Given the description of an element on the screen output the (x, y) to click on. 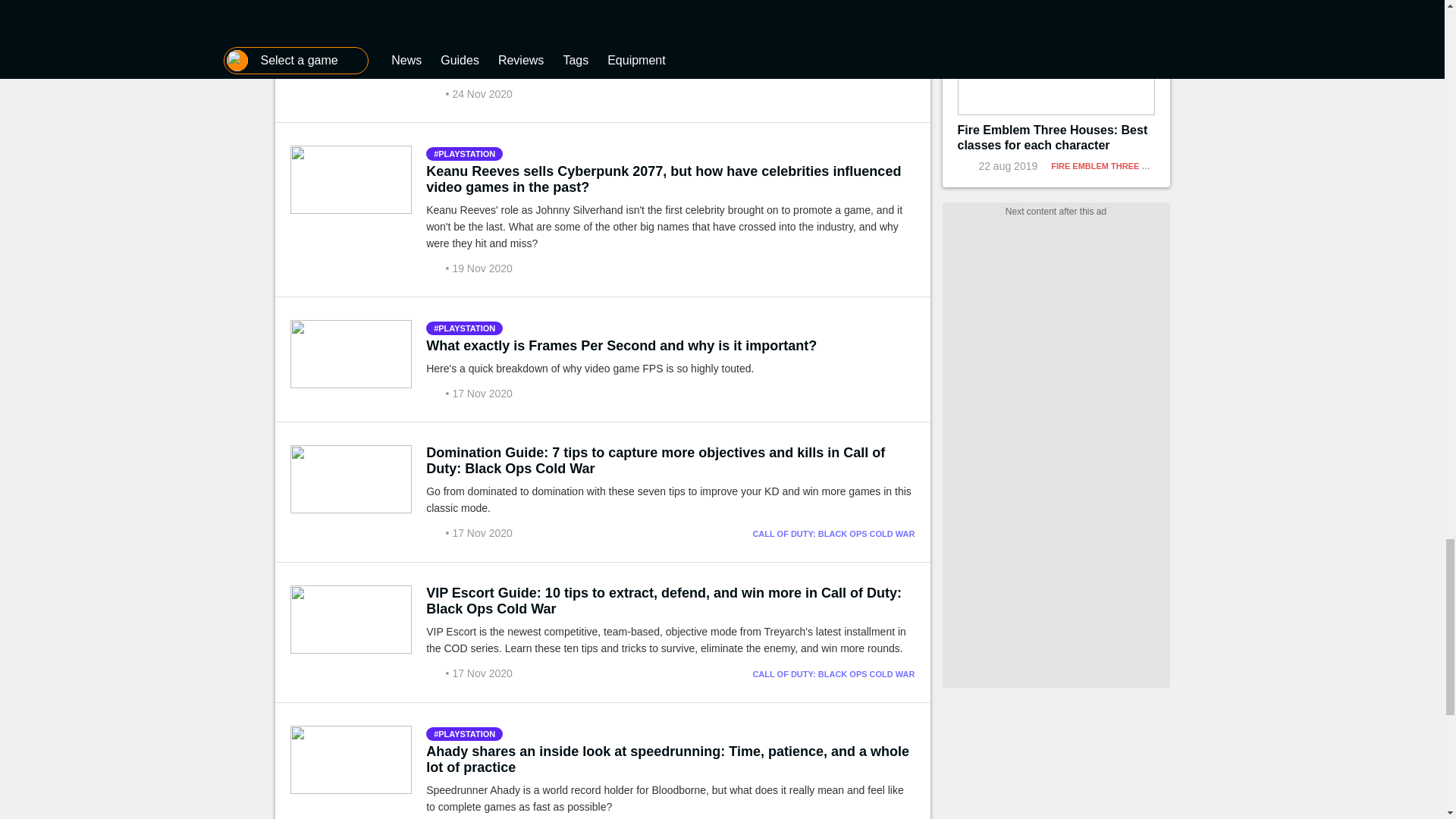
FIRE EMBLEM THREE HOUSES (1113, 165)
What exactly is Frames Per Second and why is it important? (621, 345)
The three greatest James Bond games fans should experience (628, 29)
